Given the description of an element on the screen output the (x, y) to click on. 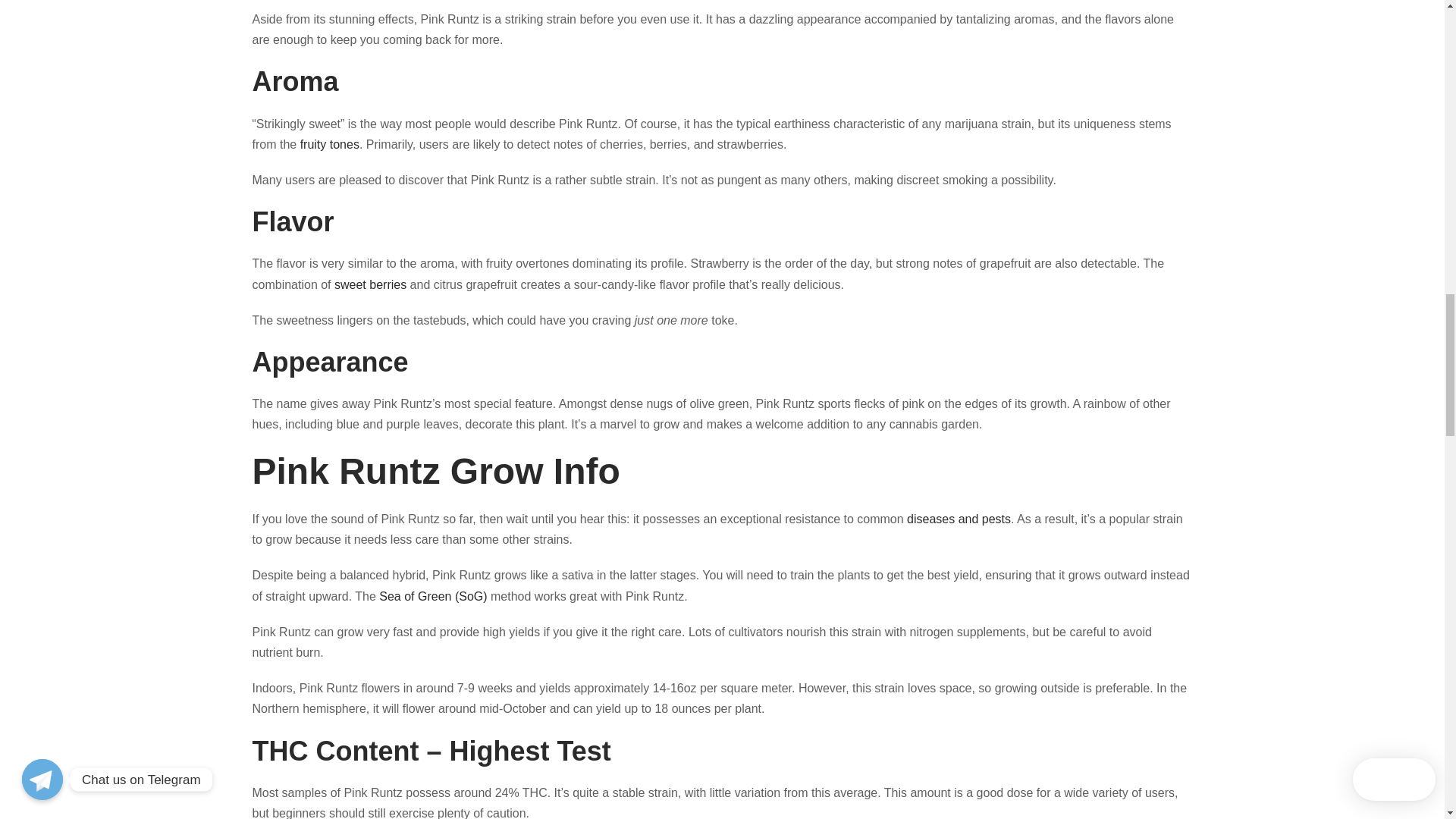
diseases and pests (958, 518)
sweet berries (370, 283)
fruity tones (329, 144)
